Given the description of an element on the screen output the (x, y) to click on. 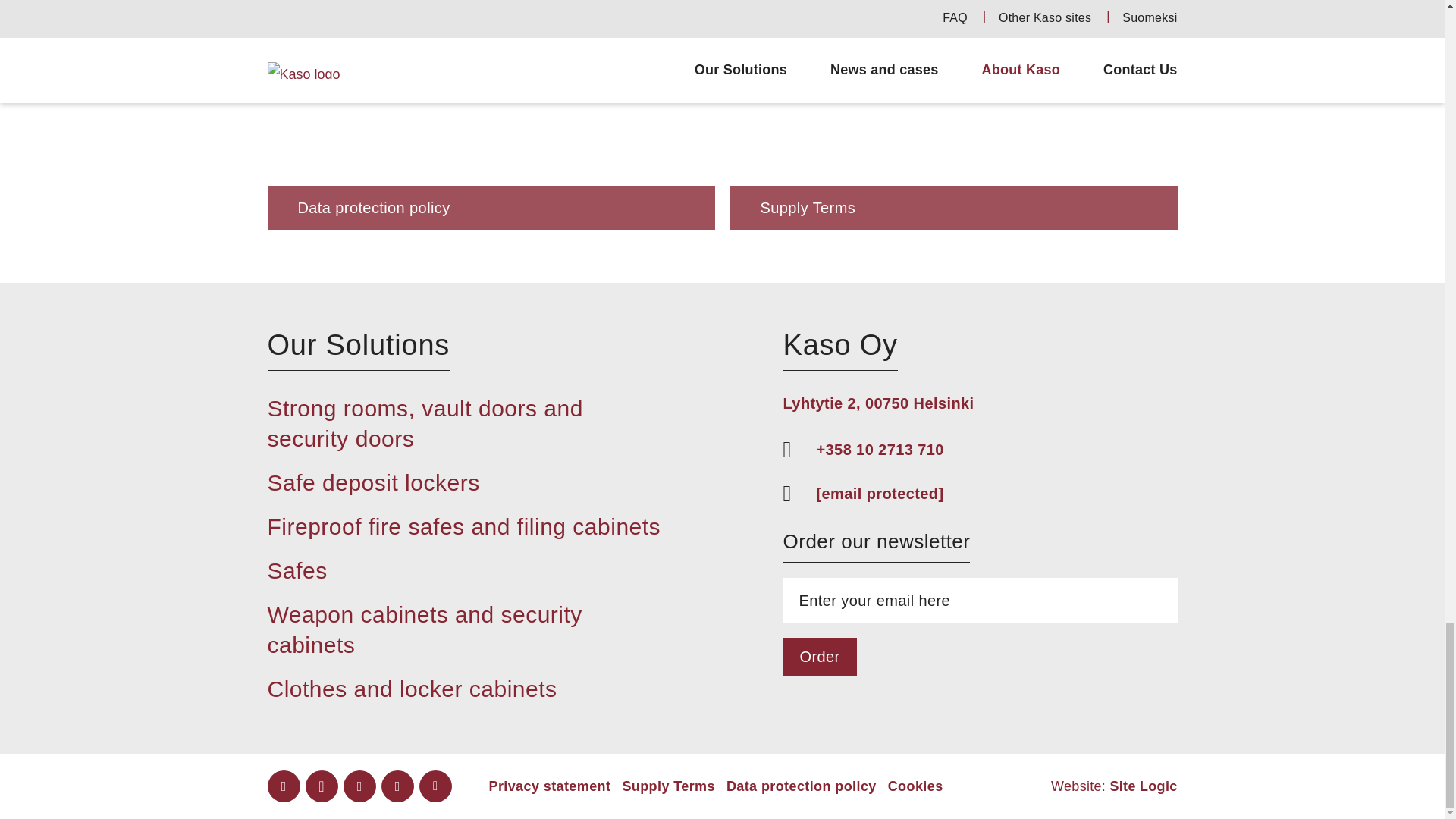
Order (819, 656)
Weapon cabinets and security cabinets (423, 629)
Fireproof fire safes and filing cabinets (463, 526)
Data protection policy (490, 115)
Safes (296, 570)
Privacy statement (548, 785)
Strong rooms, vault doors and security doors (424, 423)
Safe deposit lockers (372, 482)
Clothes and locker cabinets (411, 688)
Supply Terms (952, 115)
